Given the description of an element on the screen output the (x, y) to click on. 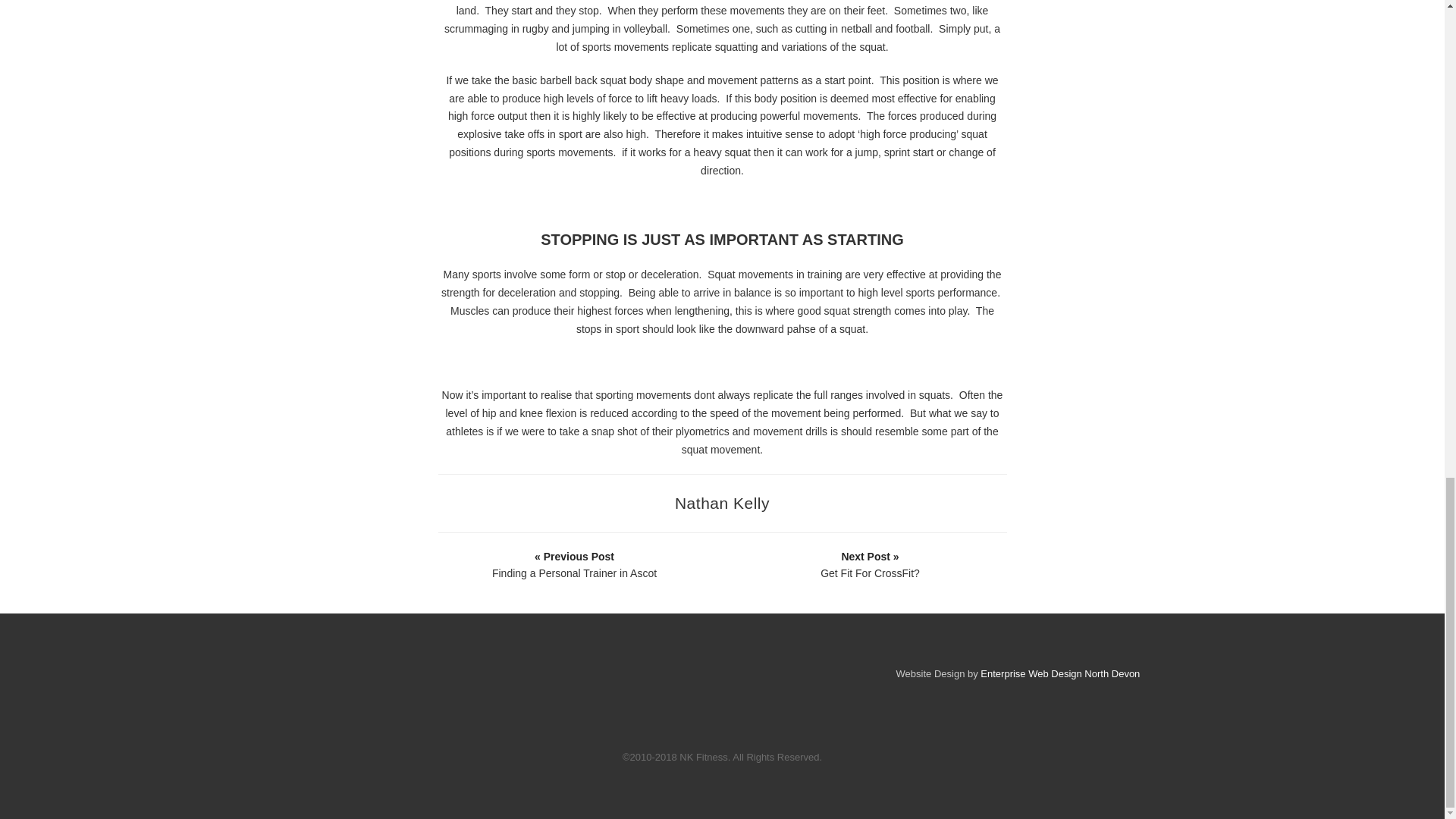
Nathan Kelly (722, 502)
Enterprise Web Design North Devon (1059, 673)
Finding a Personal Trainer in Ascot (574, 563)
Get Fit For CrossFit? (869, 563)
